Given the description of an element on the screen output the (x, y) to click on. 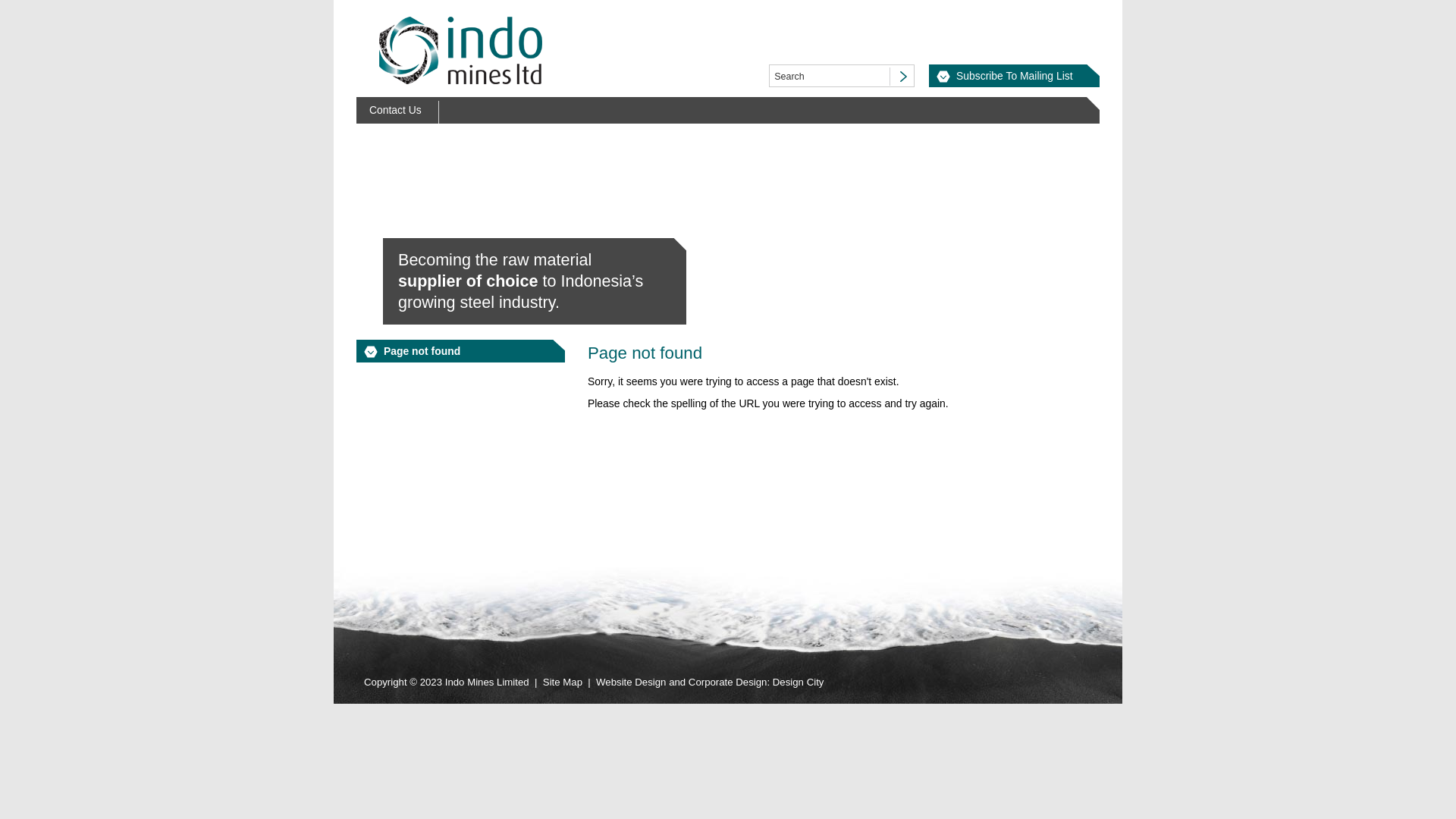
  Element type: text (900, 76)
Site Map Element type: text (562, 681)
Corporate Design Element type: text (727, 681)
Design City Element type: text (798, 681)
Website Design Element type: text (630, 681)
  Element type: hover (900, 76)
Subscribe To Mailing List Element type: text (1013, 75)
Contact Us Element type: text (397, 110)
